Given the description of an element on the screen output the (x, y) to click on. 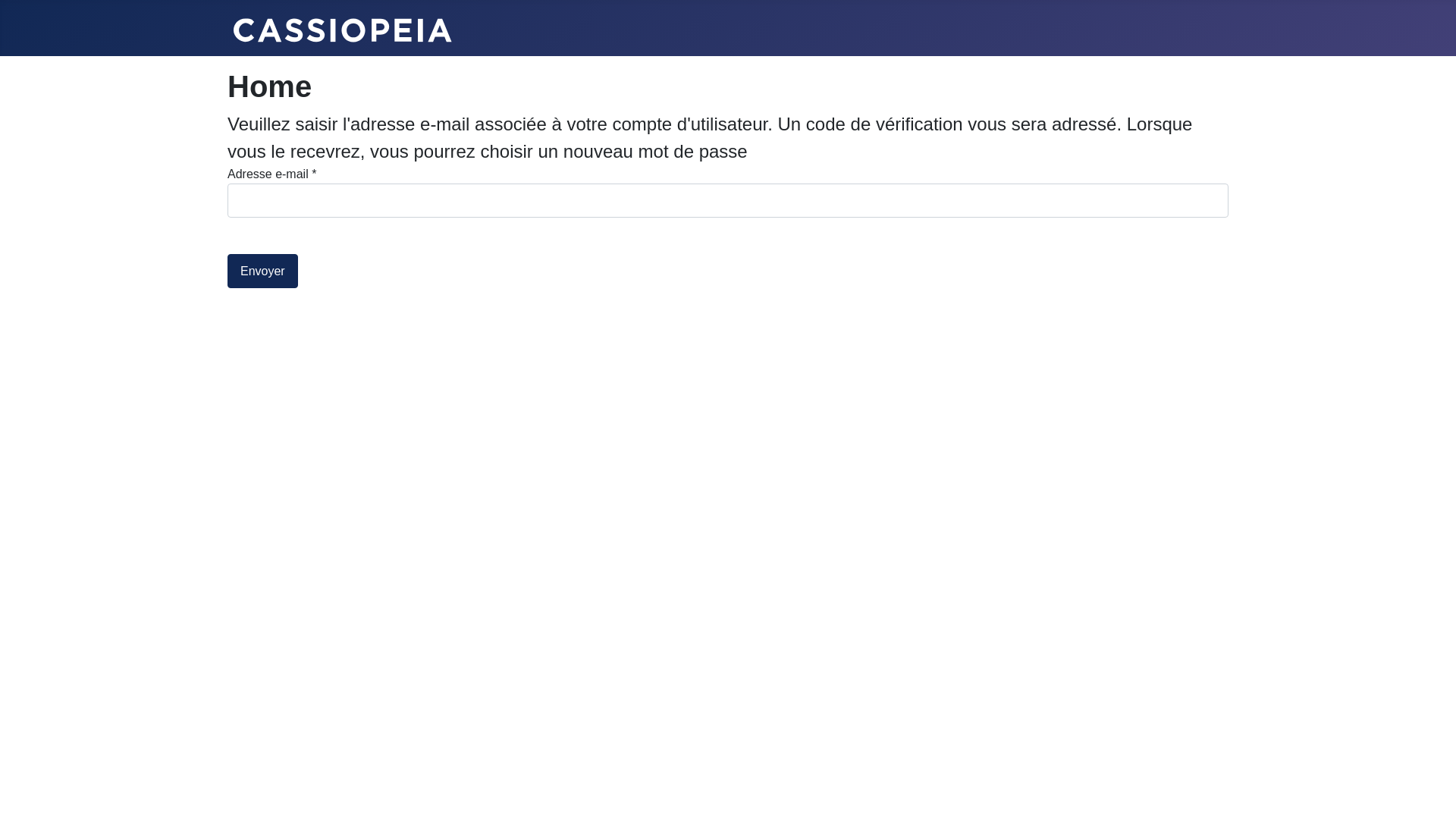
Envoyer Element type: text (262, 271)
